Given the description of an element on the screen output the (x, y) to click on. 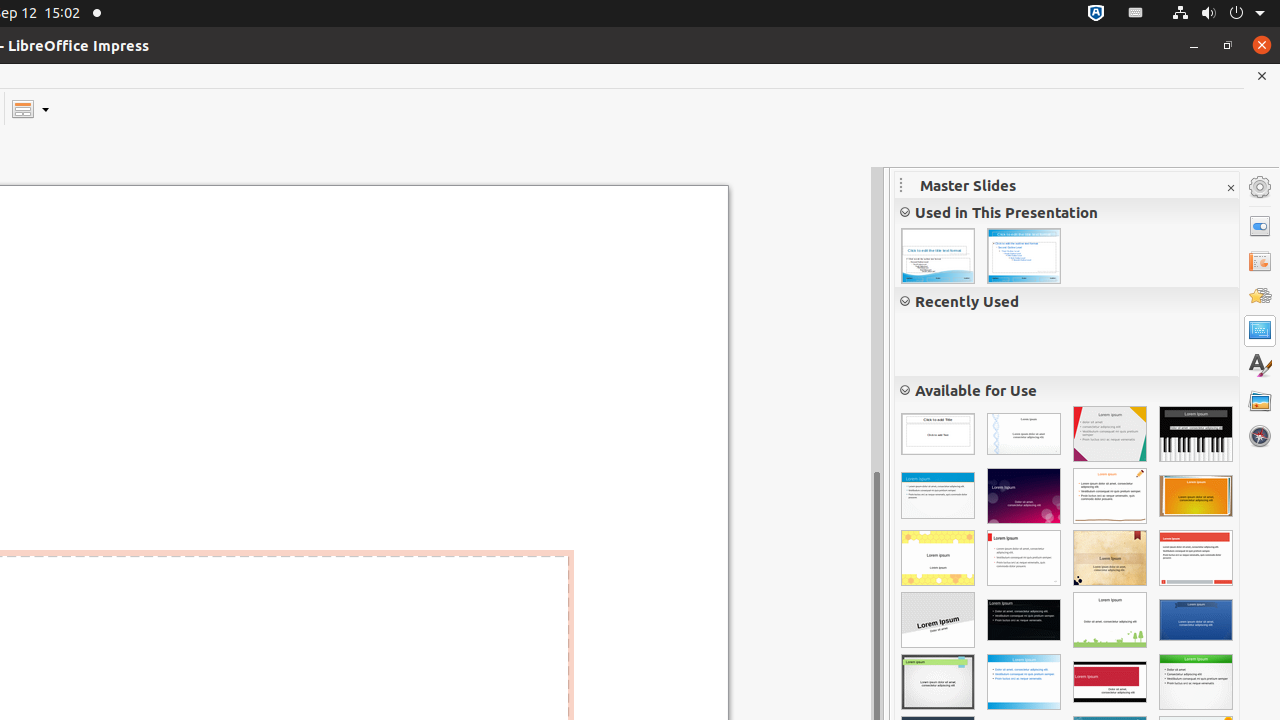
Close Sidebar Deck Element type: push-button (1230, 188)
DNA Element type: list-item (1024, 434)
Navigator Element type: radio-button (1260, 436)
Blue_Curve1 Element type: list-item (1024, 256)
